Given the description of an element on the screen output the (x, y) to click on. 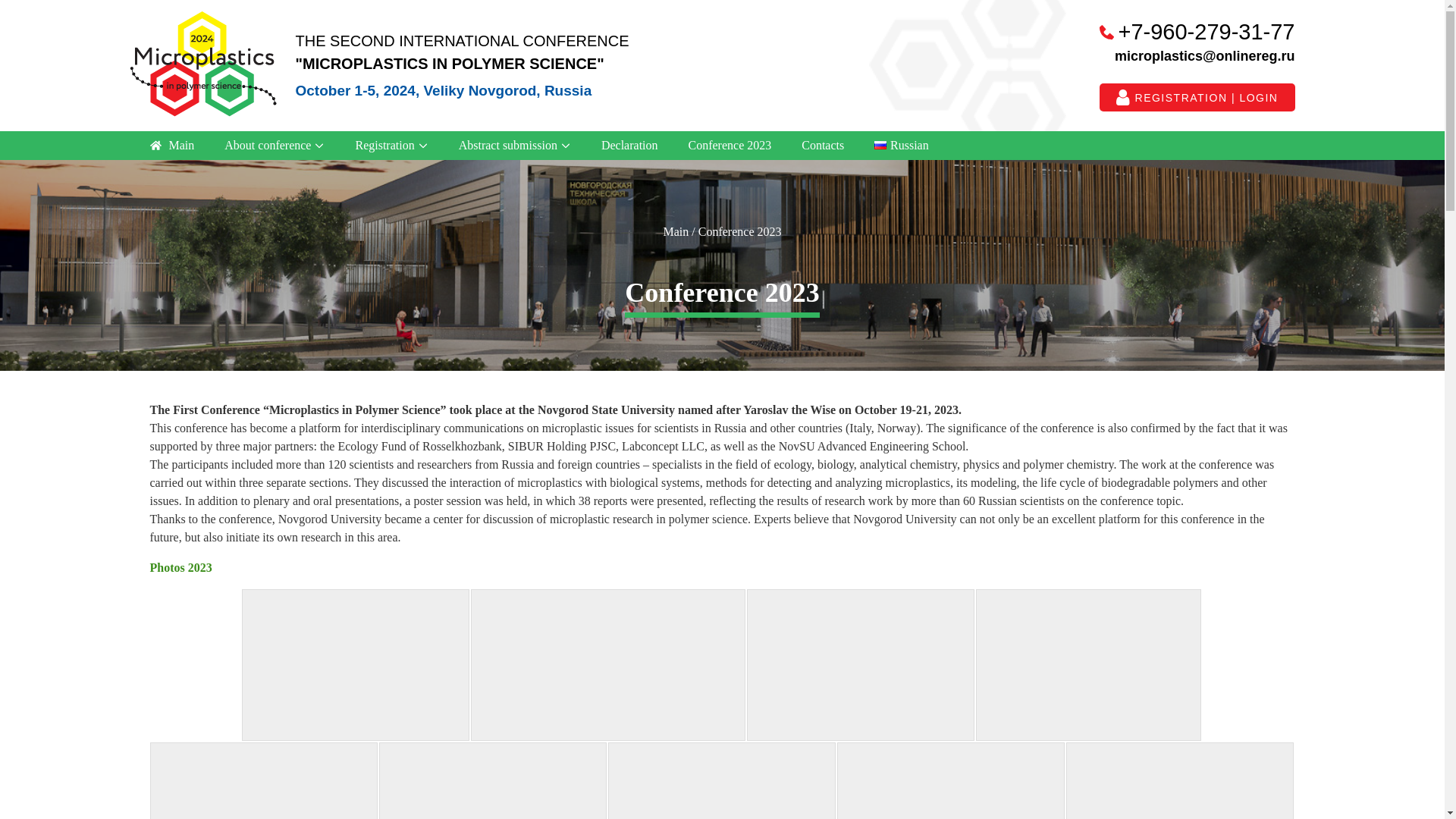
Main (675, 231)
Contacts (822, 144)
Conference 2023 (729, 144)
Declaration (629, 144)
About conference (274, 145)
Abstract submission (515, 145)
Russian (901, 144)
Registration (390, 145)
Main (172, 145)
